Given the description of an element on the screen output the (x, y) to click on. 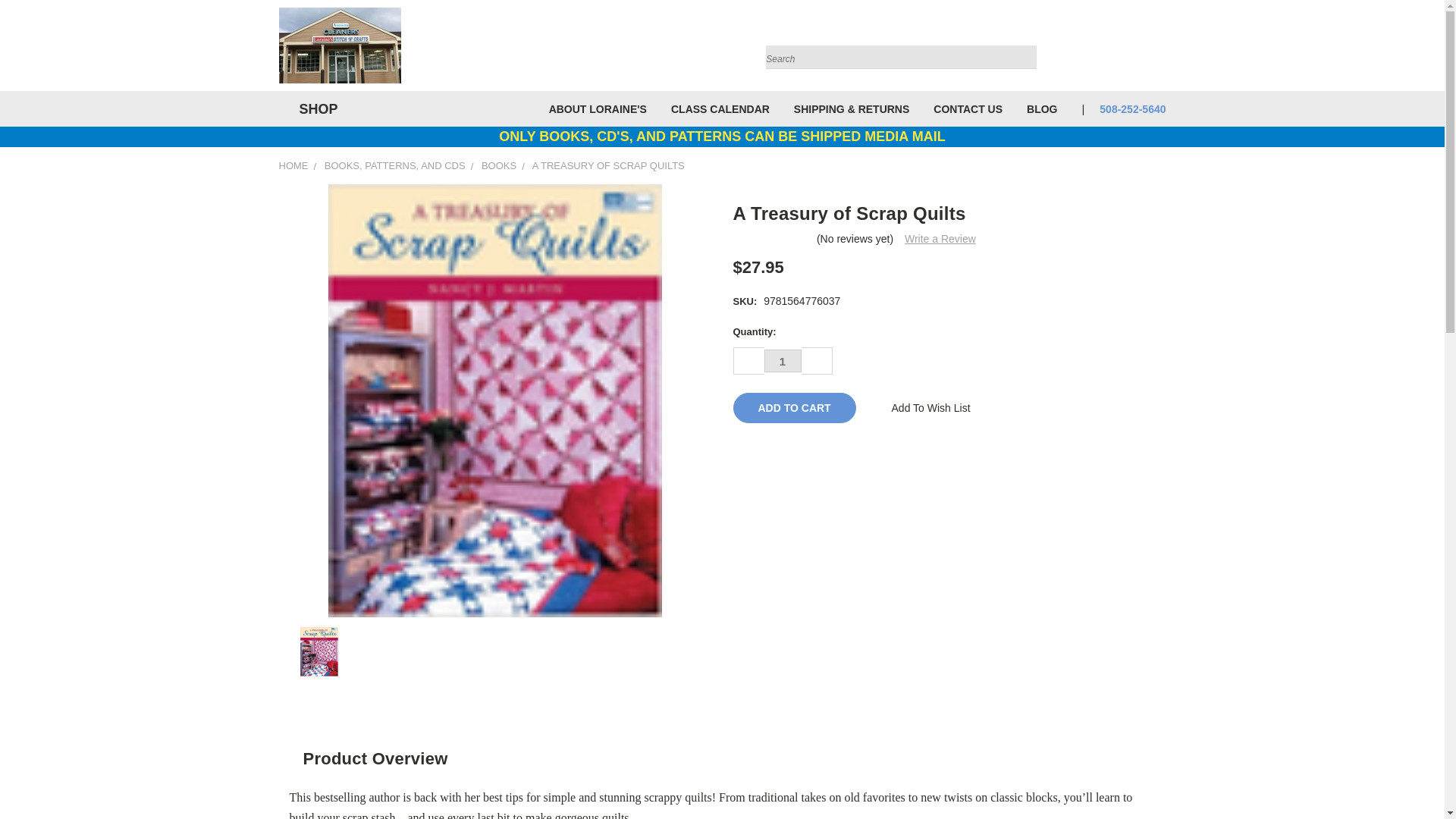
A Treasury of Scrap Quilts (318, 651)
Submit Search (1024, 38)
1 (783, 360)
Gift Certificates (1135, 48)
SHOP (314, 109)
Add to Cart (794, 408)
User Toolbox (1105, 48)
